Given the description of an element on the screen output the (x, y) to click on. 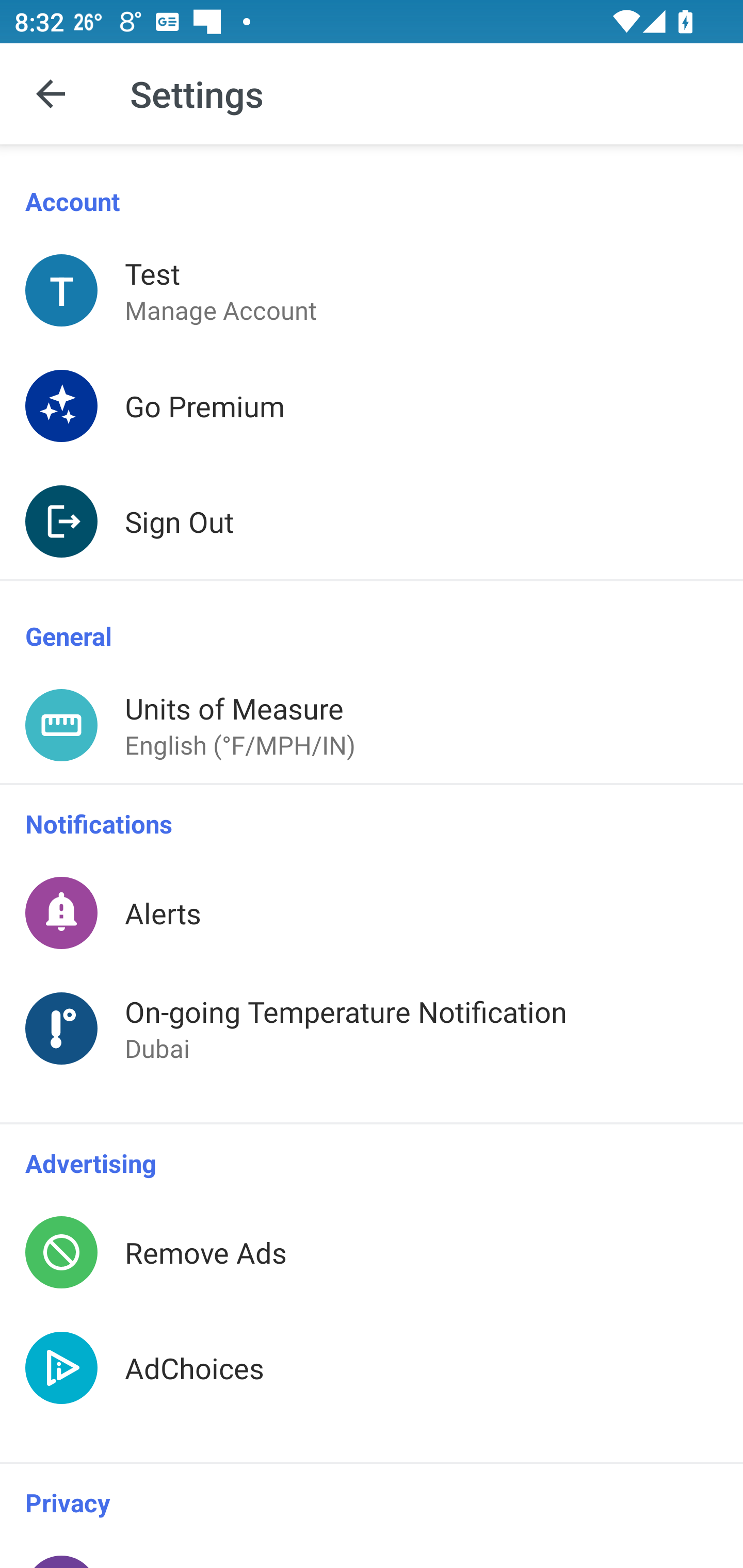
Navigate up (50, 93)
Setting icon T Test Manage Account (371, 290)
Setting icon Go Premium (371, 406)
Setting icon Sign Out (371, 521)
Setting icon Alerts (371, 912)
Setting icon Remove Ads (371, 1252)
Setting icon AdChoices (371, 1385)
